Given the description of an element on the screen output the (x, y) to click on. 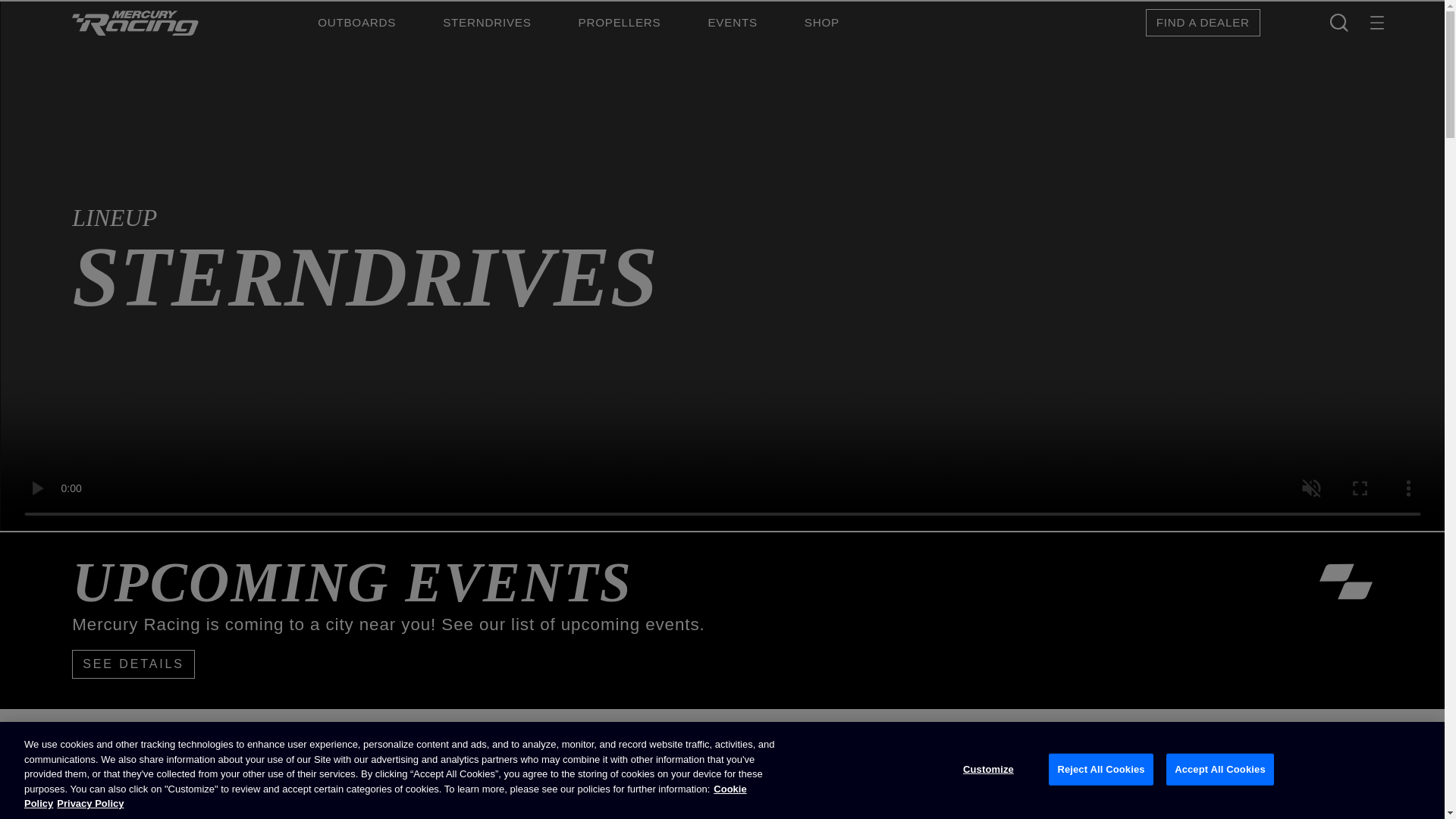
STERNDRIVES (486, 22)
SHOP (822, 22)
EVENTS (732, 22)
SEE DETAILS (133, 664)
Mercury Racing Logo (1377, 22)
Skip to main content (55, 9)
FIND A DEALER (1202, 22)
OUTBOARDS (356, 22)
PROPELLERS (619, 22)
